Given the description of an element on the screen output the (x, y) to click on. 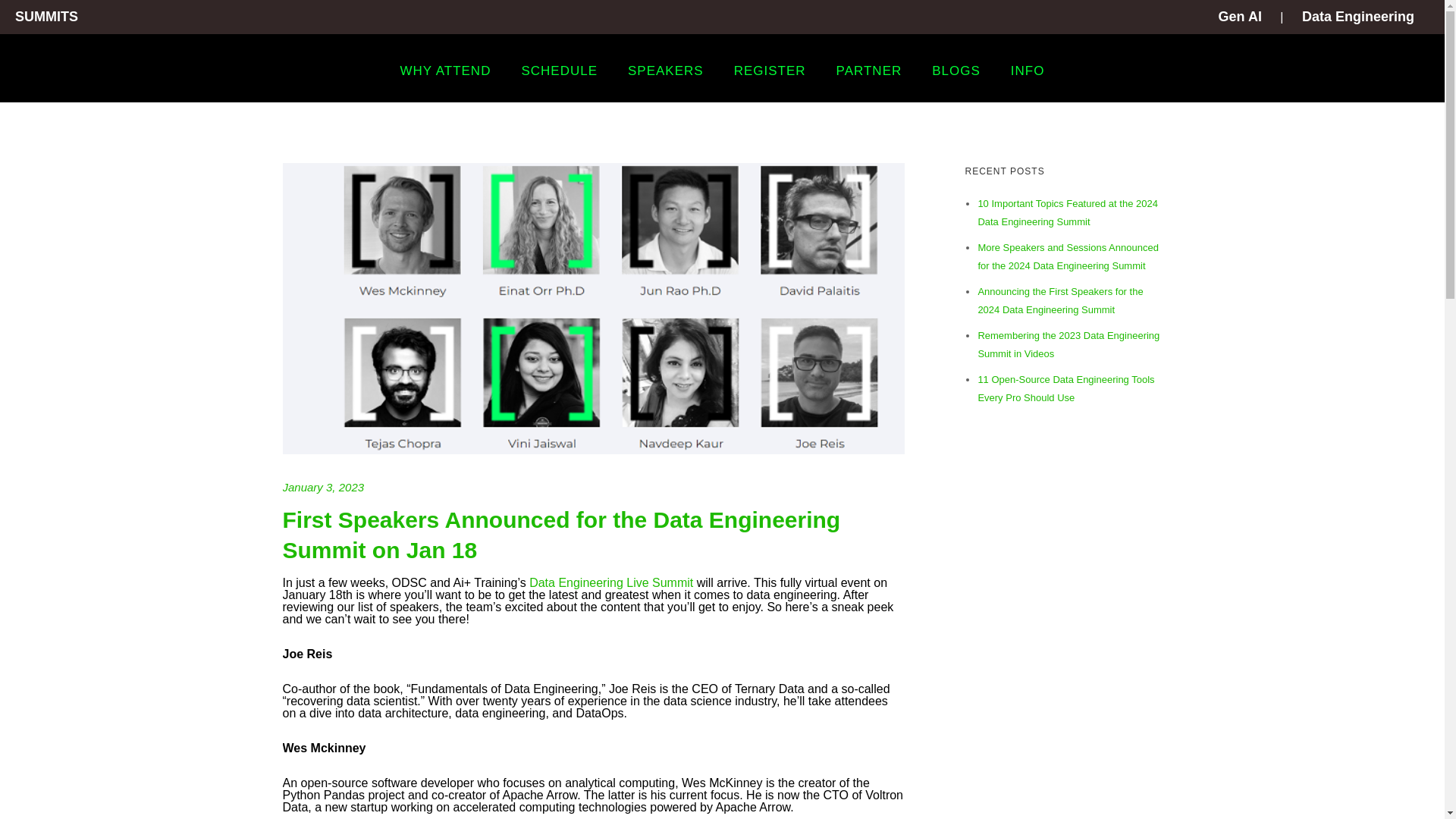
WHY ATTEND (445, 70)
Gen AI (1240, 16)
Gen AI (1240, 16)
INFO (1027, 70)
Data Engineering (1357, 16)
January 3, 2023 (323, 486)
SPEAKERS (665, 70)
Why Attend (445, 70)
SCHEDULE (558, 70)
PARTNER (869, 70)
